Given the description of an element on the screen output the (x, y) to click on. 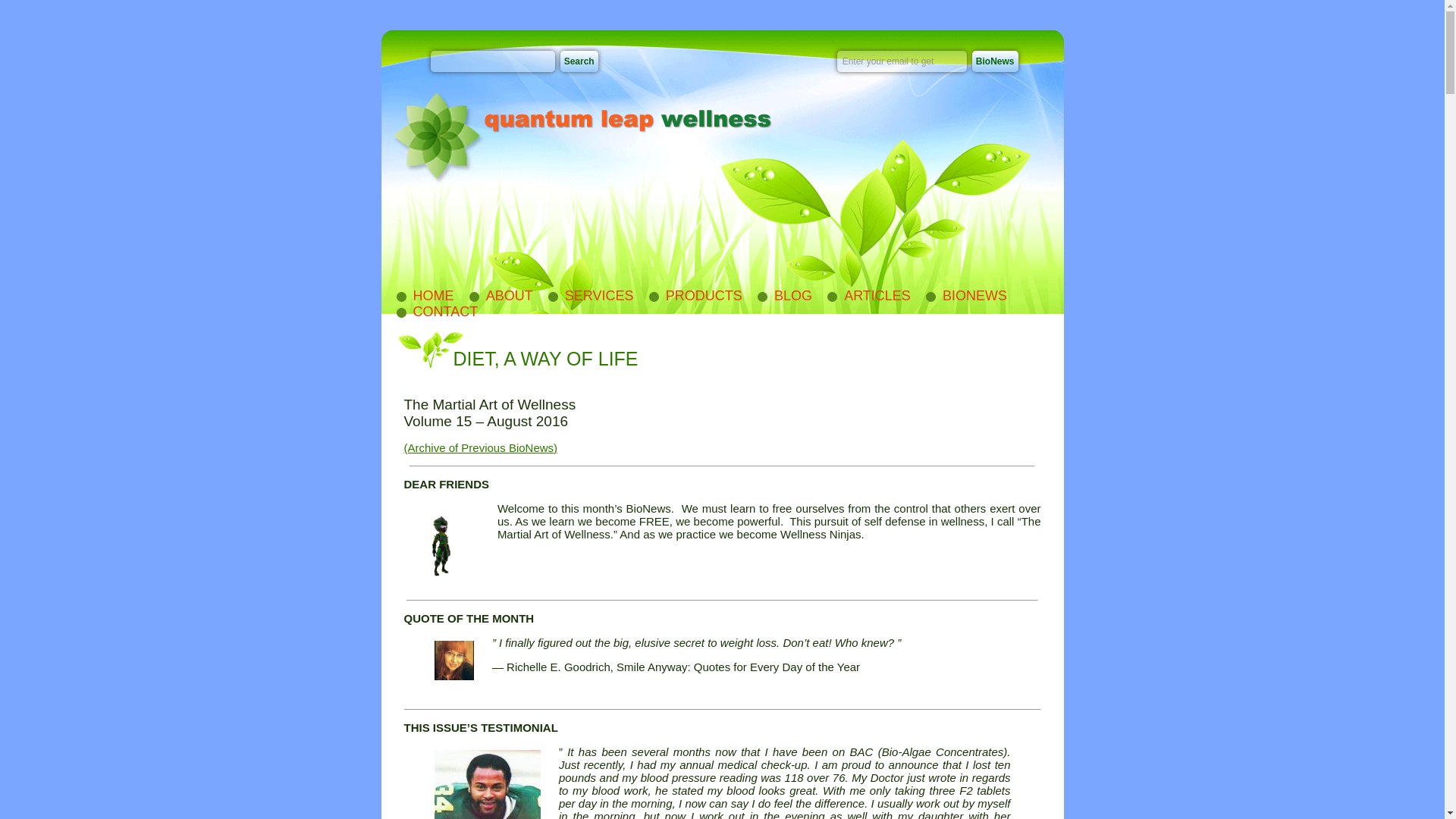
BLOG (783, 295)
ABOUT (499, 295)
BioNews (994, 61)
Search (579, 61)
Search (579, 61)
SERVICES (590, 295)
BIONEWS (965, 295)
HOME (423, 295)
ARTICLES (868, 295)
Enter your email to get (901, 61)
